Given the description of an element on the screen output the (x, y) to click on. 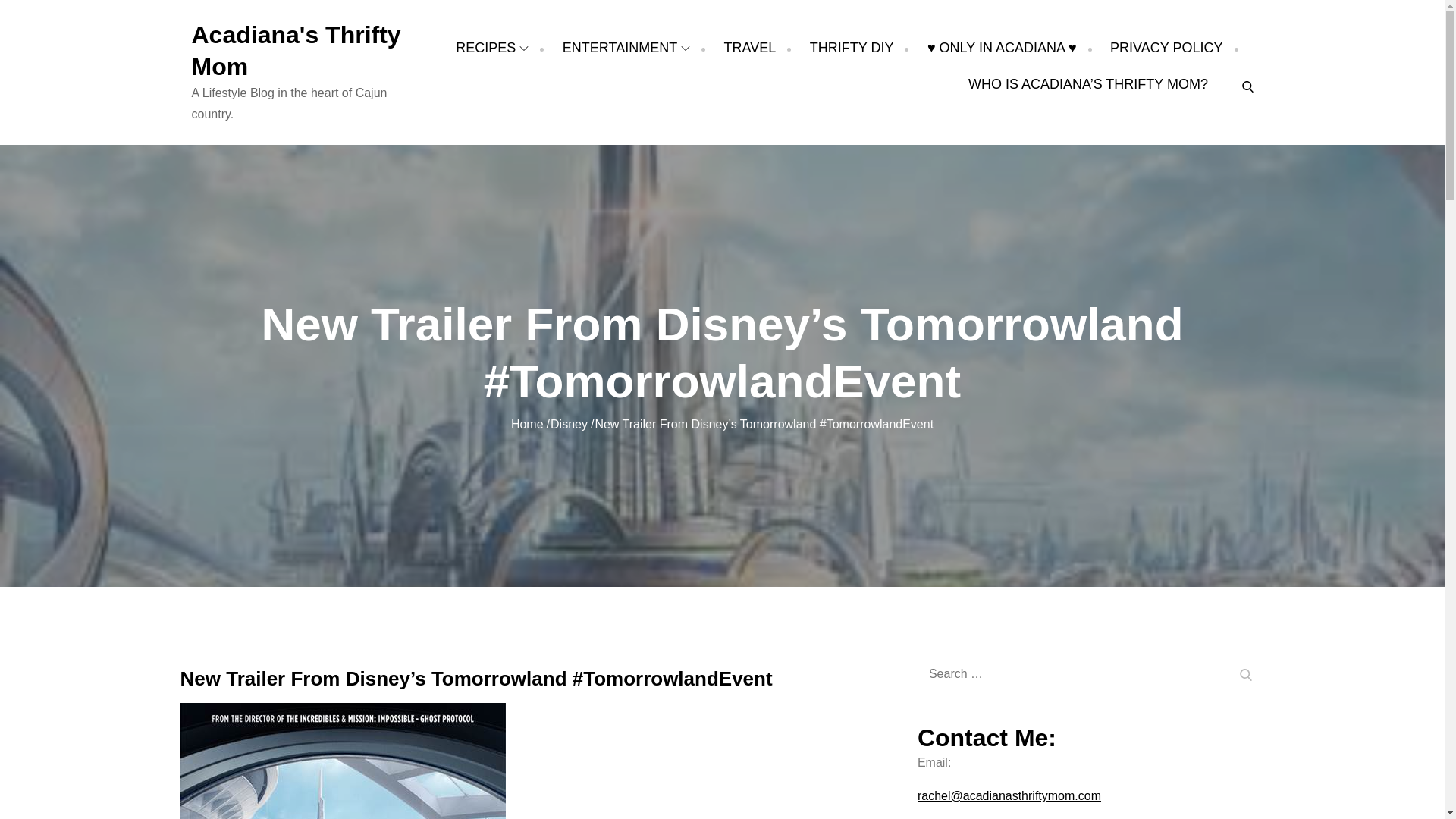
PRIVACY POLICY (1166, 47)
RECIPES (491, 47)
Acadiana's Thrifty Mom (295, 50)
THRIFTY DIY (851, 47)
TRAVEL (749, 47)
ENTERTAINMENT (626, 47)
